Given the description of an element on the screen output the (x, y) to click on. 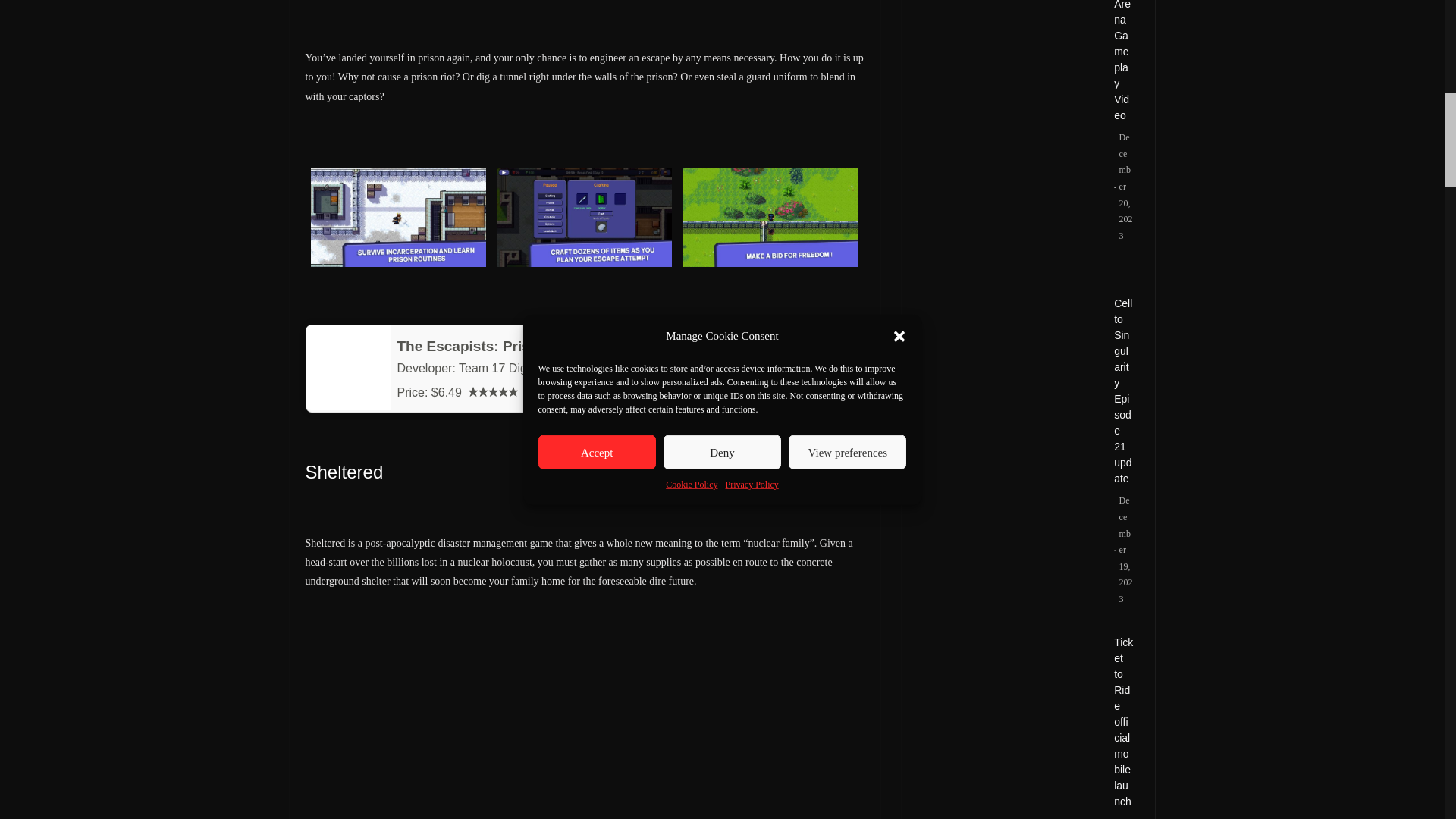
The Escapists: Prison Escape (499, 345)
5 of 5 stars (493, 391)
